Given the description of an element on the screen output the (x, y) to click on. 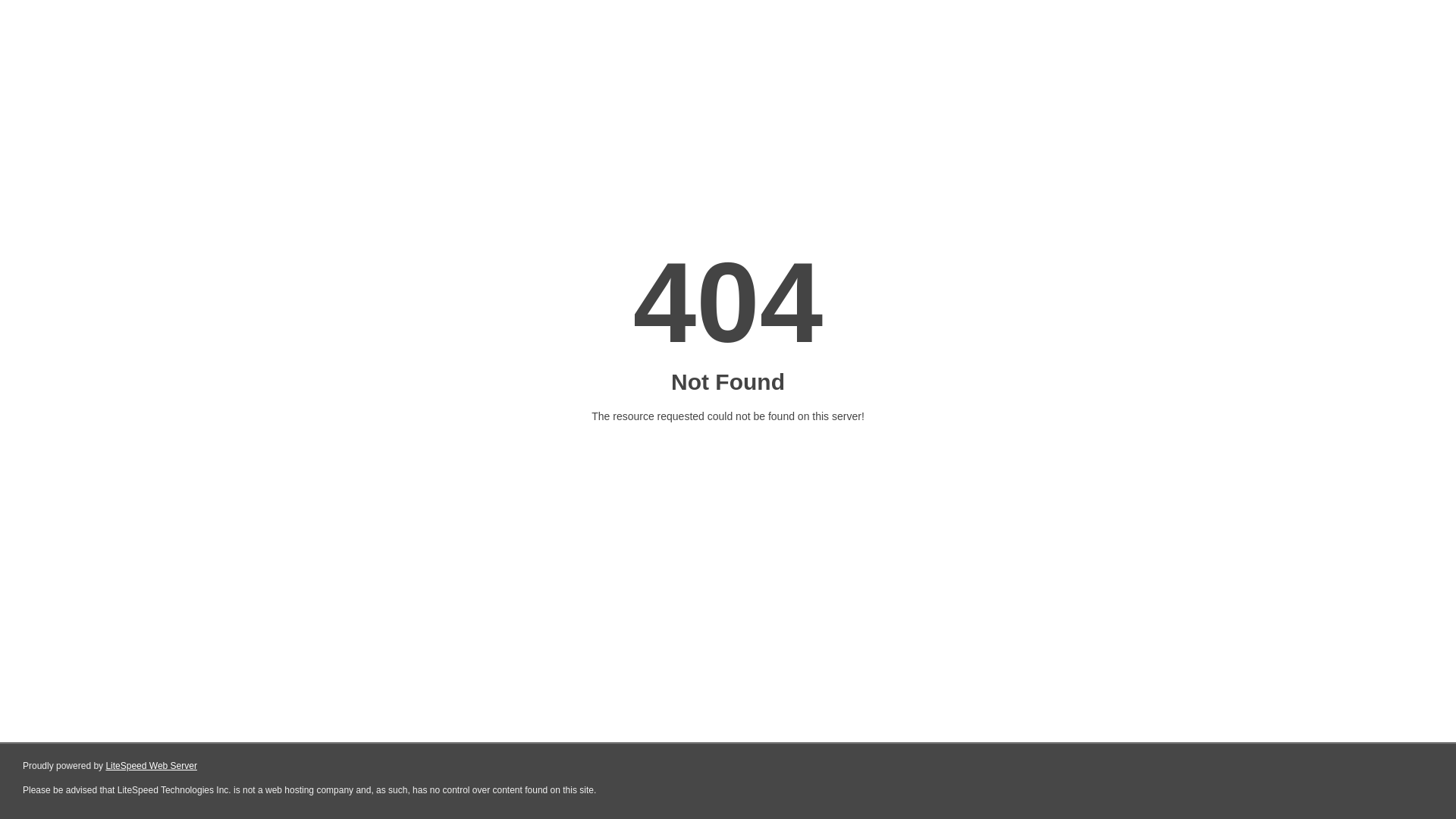
LiteSpeed Web Server Element type: text (151, 765)
